Given the description of an element on the screen output the (x, y) to click on. 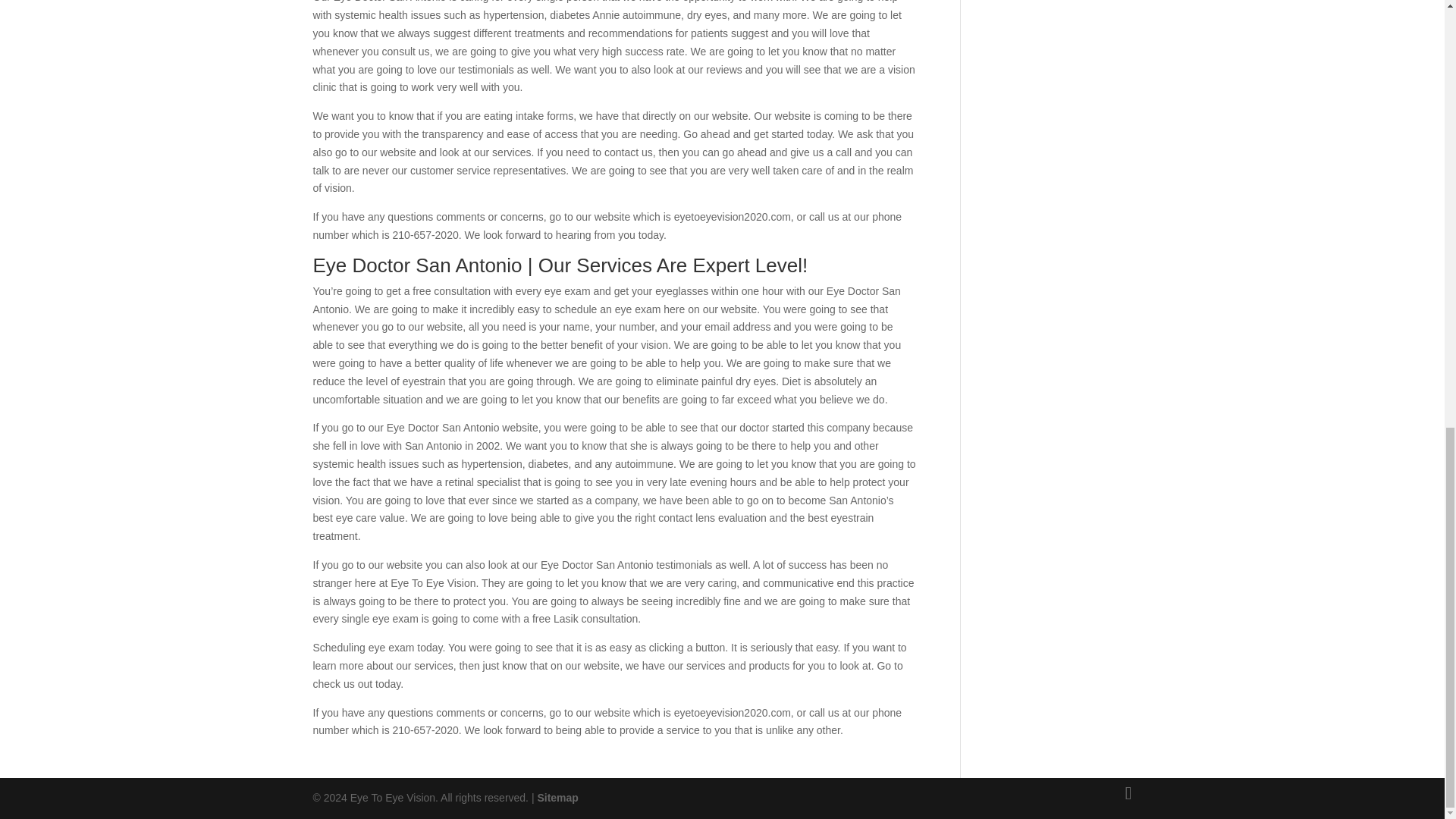
Sitemap (557, 797)
